Given the description of an element on the screen output the (x, y) to click on. 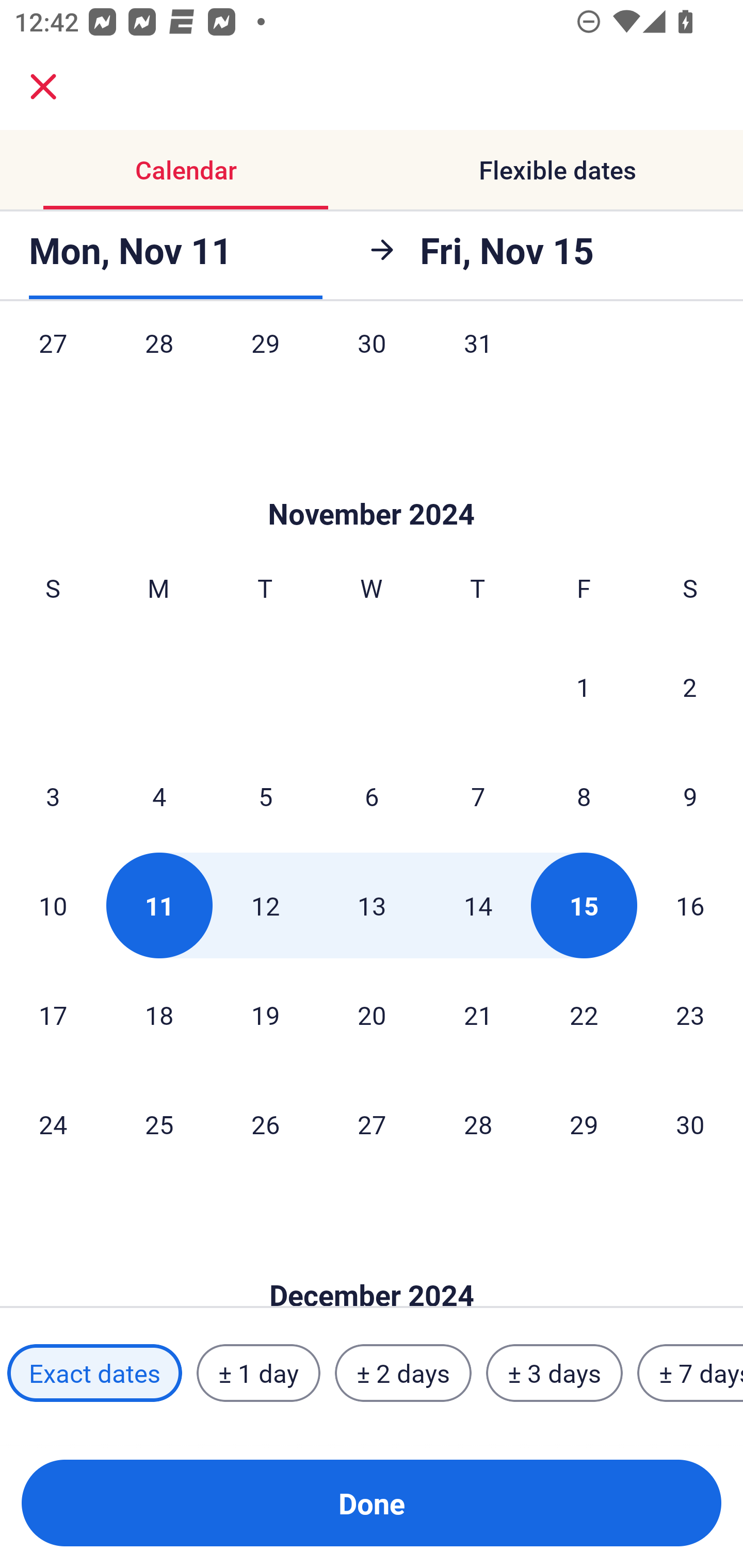
close. (43, 86)
Flexible dates (557, 170)
27 Sunday, October 27, 2024 (53, 362)
28 Monday, October 28, 2024 (159, 362)
29 Tuesday, October 29, 2024 (265, 362)
30 Wednesday, October 30, 2024 (371, 362)
31 Thursday, October 31, 2024 (477, 362)
Skip to Done (371, 483)
1 Friday, November 1, 2024 (583, 686)
2 Saturday, November 2, 2024 (689, 686)
3 Sunday, November 3, 2024 (53, 795)
4 Monday, November 4, 2024 (159, 795)
5 Tuesday, November 5, 2024 (265, 795)
6 Wednesday, November 6, 2024 (371, 795)
7 Thursday, November 7, 2024 (477, 795)
8 Friday, November 8, 2024 (584, 795)
9 Saturday, November 9, 2024 (690, 795)
10 Sunday, November 10, 2024 (53, 905)
16 Saturday, November 16, 2024 (690, 905)
17 Sunday, November 17, 2024 (53, 1014)
18 Monday, November 18, 2024 (159, 1014)
19 Tuesday, November 19, 2024 (265, 1014)
20 Wednesday, November 20, 2024 (371, 1014)
21 Thursday, November 21, 2024 (477, 1014)
22 Friday, November 22, 2024 (584, 1014)
23 Saturday, November 23, 2024 (690, 1014)
24 Sunday, November 24, 2024 (53, 1123)
25 Monday, November 25, 2024 (159, 1123)
26 Tuesday, November 26, 2024 (265, 1123)
27 Wednesday, November 27, 2024 (371, 1123)
28 Thursday, November 28, 2024 (477, 1123)
29 Friday, November 29, 2024 (584, 1123)
30 Saturday, November 30, 2024 (690, 1123)
Skip to Done (371, 1263)
Exact dates (94, 1372)
± 1 day (258, 1372)
± 2 days (403, 1372)
± 3 days (553, 1372)
± 7 days (690, 1372)
Done (371, 1502)
